Given the description of an element on the screen output the (x, y) to click on. 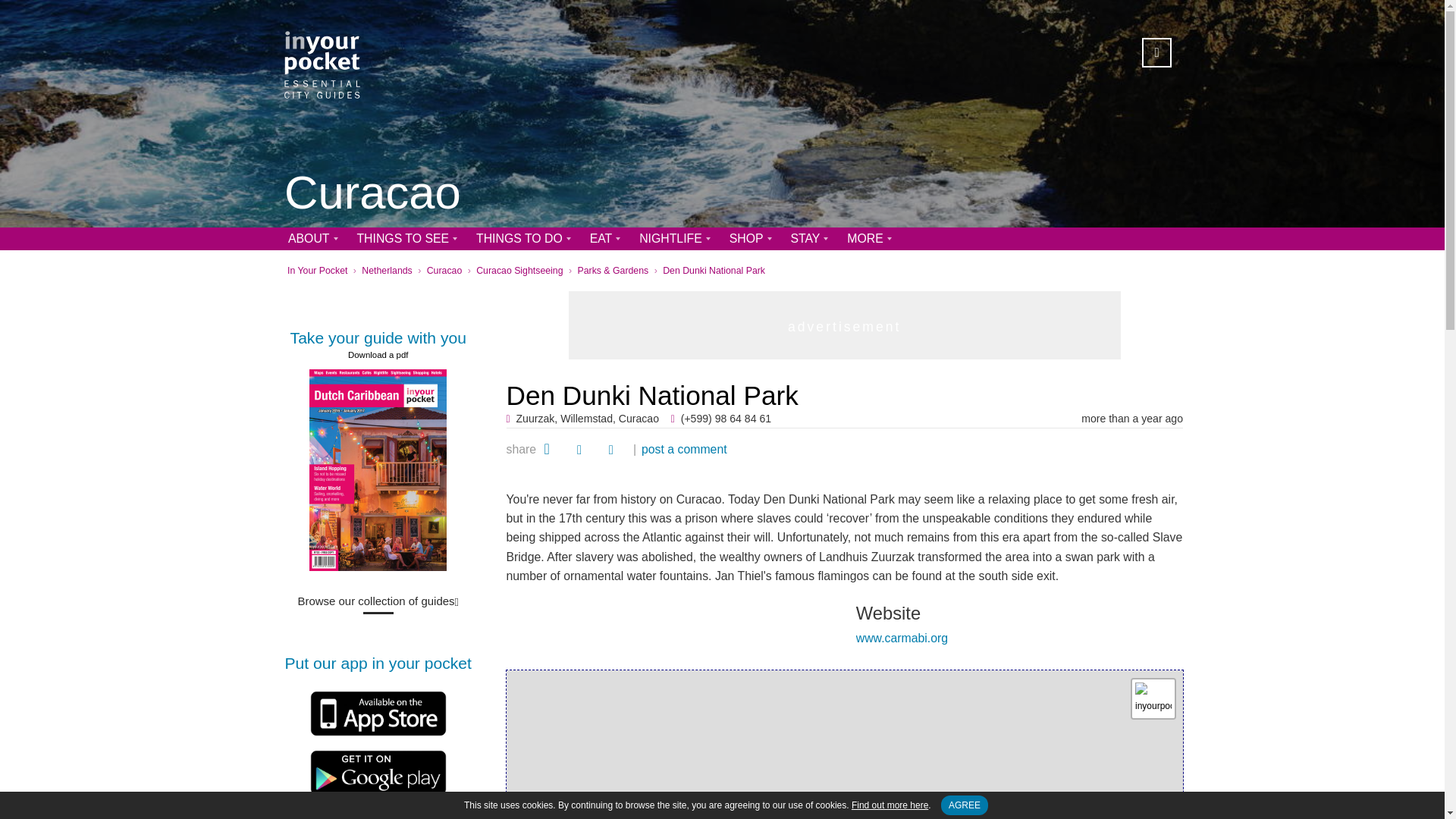
In Your Pocket (316, 270)
post a comment (684, 448)
Curacao Sightseeing (519, 270)
Curacao (444, 270)
Netherlands (386, 270)
Den Dunki National Park (713, 270)
Zuurzak, Willemstad, Curacao (588, 418)
Curacao (372, 194)
